Given the description of an element on the screen output the (x, y) to click on. 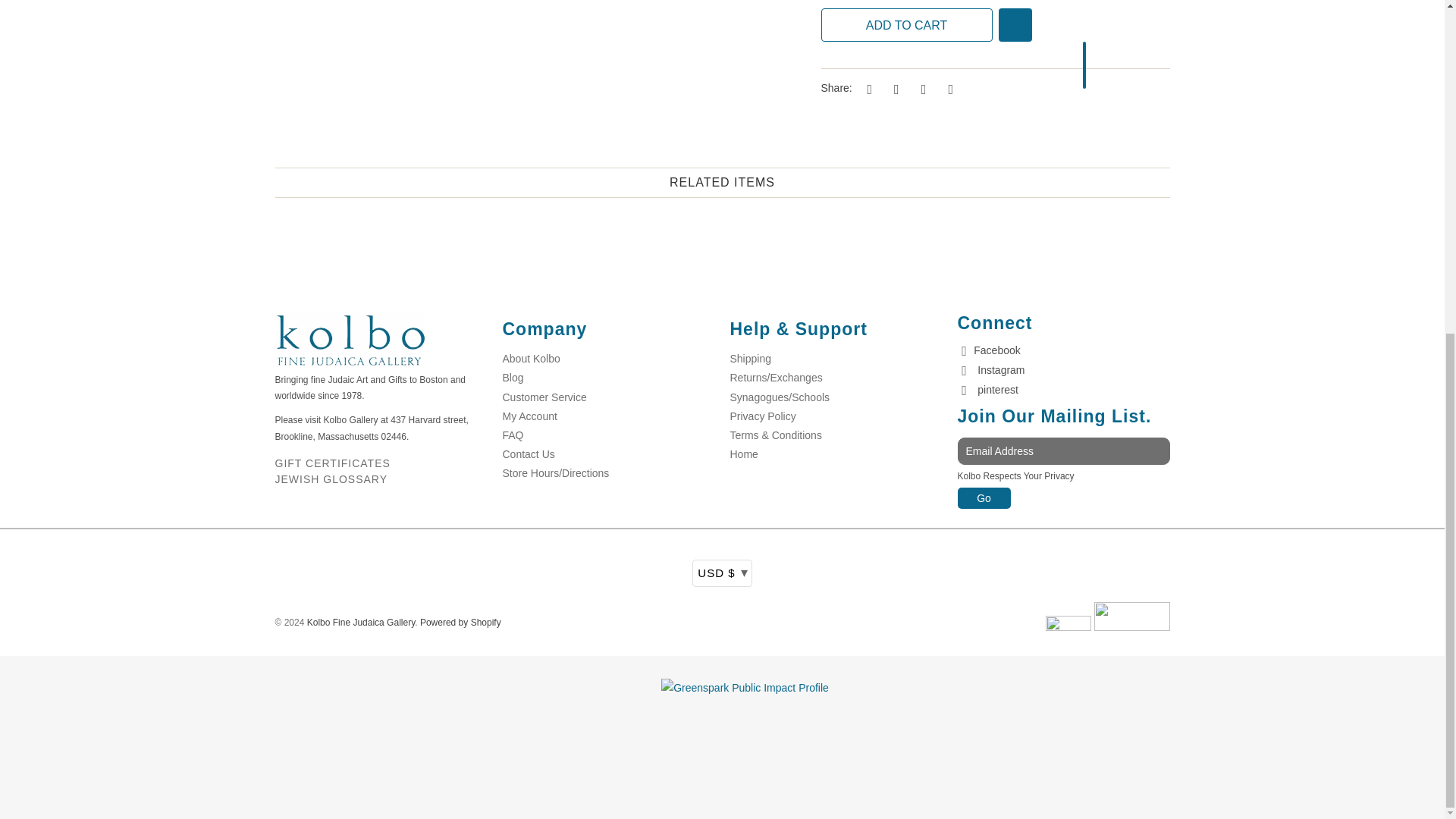
Share this on Pinterest (920, 88)
Share this on Facebook (893, 88)
Email this to a friend (948, 88)
Kolbo Fine Judaica Gallery on Facebook (988, 350)
Kolbo Fine Judaica Gallery on Pinterest (986, 389)
Go (983, 497)
Kolbo Fine Judaica Gallery on Instagram (990, 369)
Share this on Twitter (867, 88)
